Given the description of an element on the screen output the (x, y) to click on. 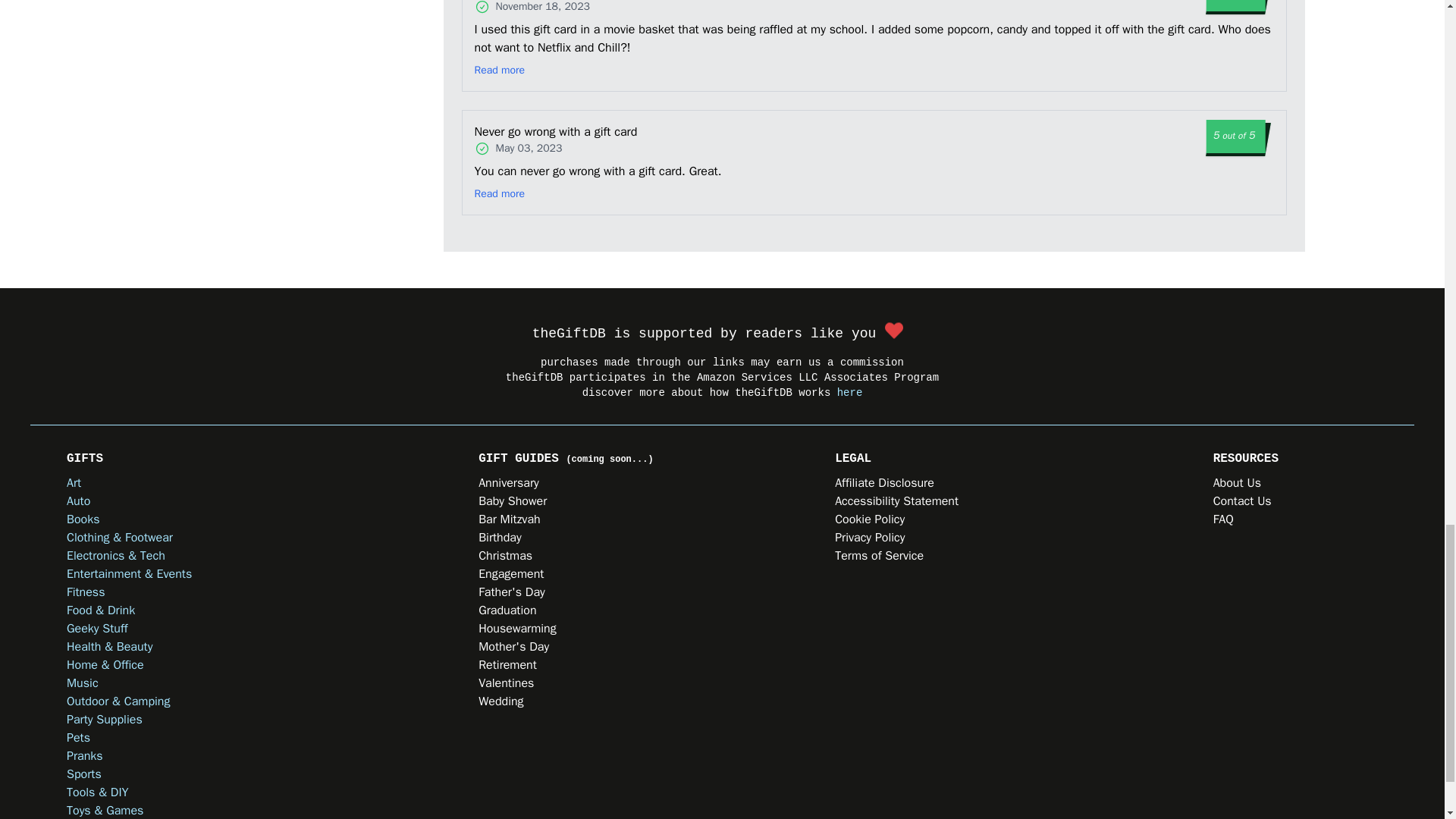
Never go wrong with a gift card (569, 131)
Read more (499, 70)
